Given the description of an element on the screen output the (x, y) to click on. 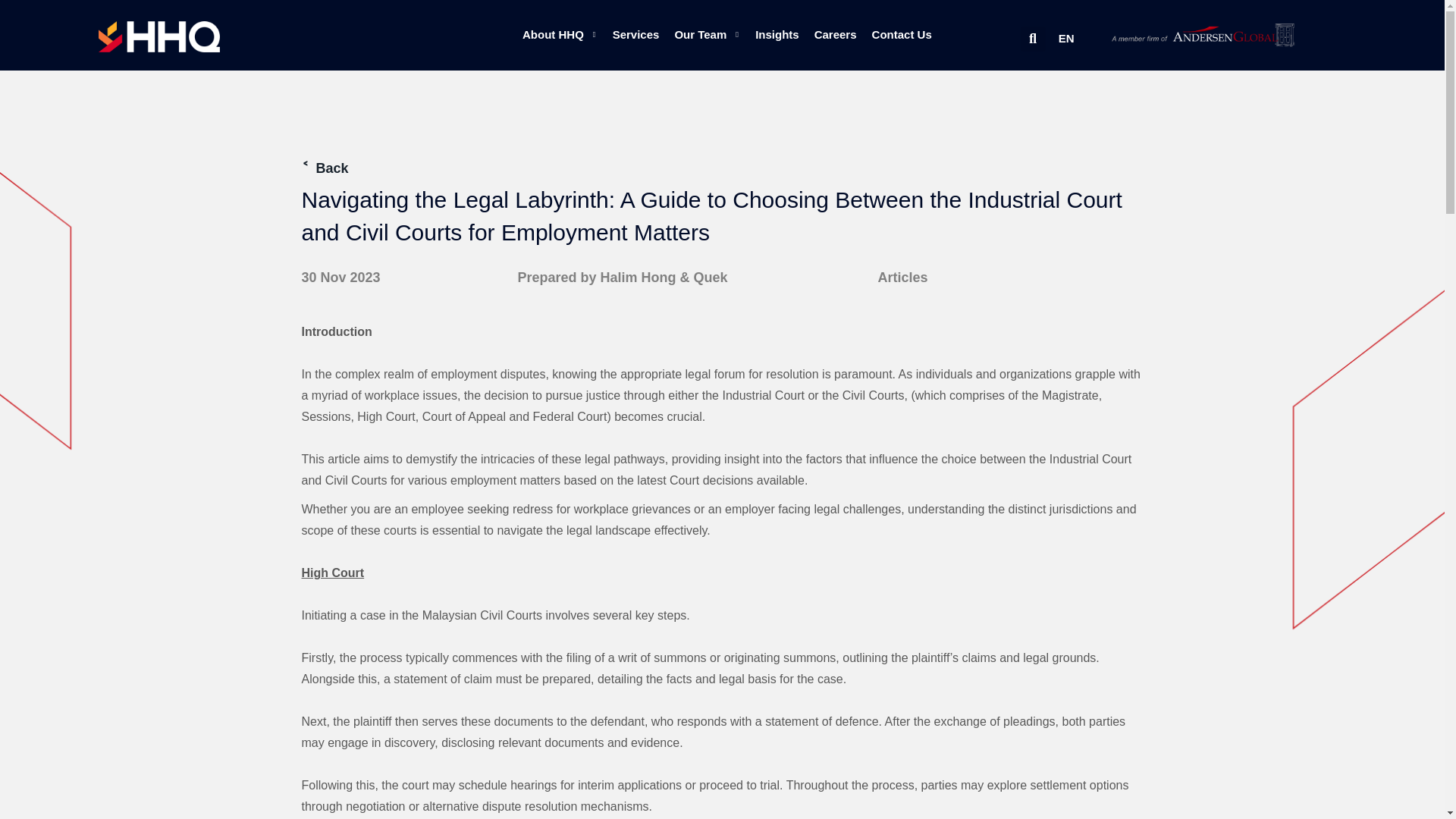
About HHQ (560, 34)
Insights (777, 34)
English (1066, 38)
Contact Us (901, 34)
Our Team (707, 34)
Careers (835, 34)
EN (1066, 38)
Services (635, 34)
